Given the description of an element on the screen output the (x, y) to click on. 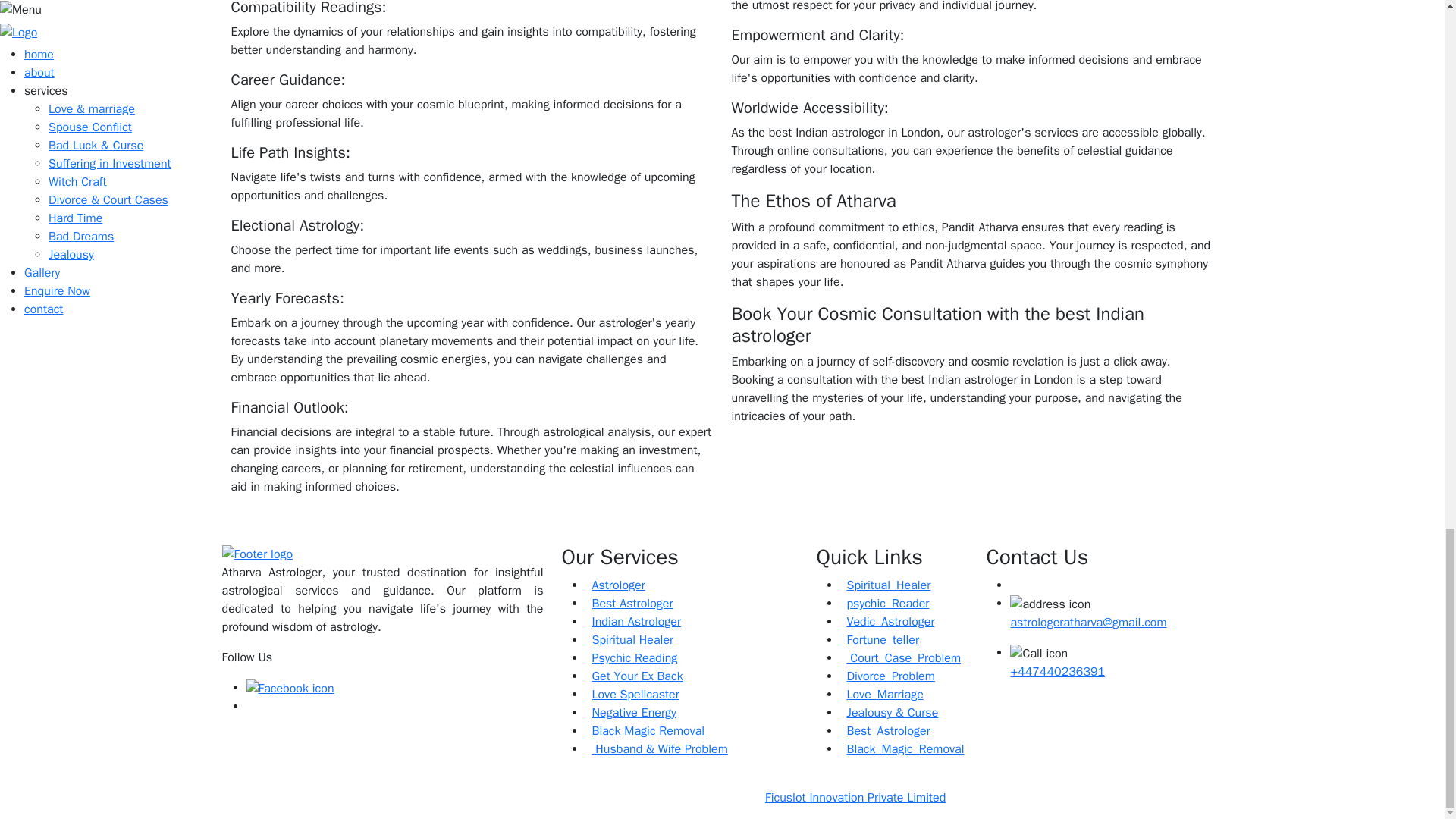
Astrologer (615, 585)
Indian Astrologer (633, 621)
Spiritual Healer (628, 639)
Get Your Ex Back (633, 676)
Love Spellcaster (631, 694)
Negative Energy (630, 712)
Black Magic Removal (644, 730)
Psychic Reading (631, 657)
Best Astrologer (628, 603)
